Given the description of an element on the screen output the (x, y) to click on. 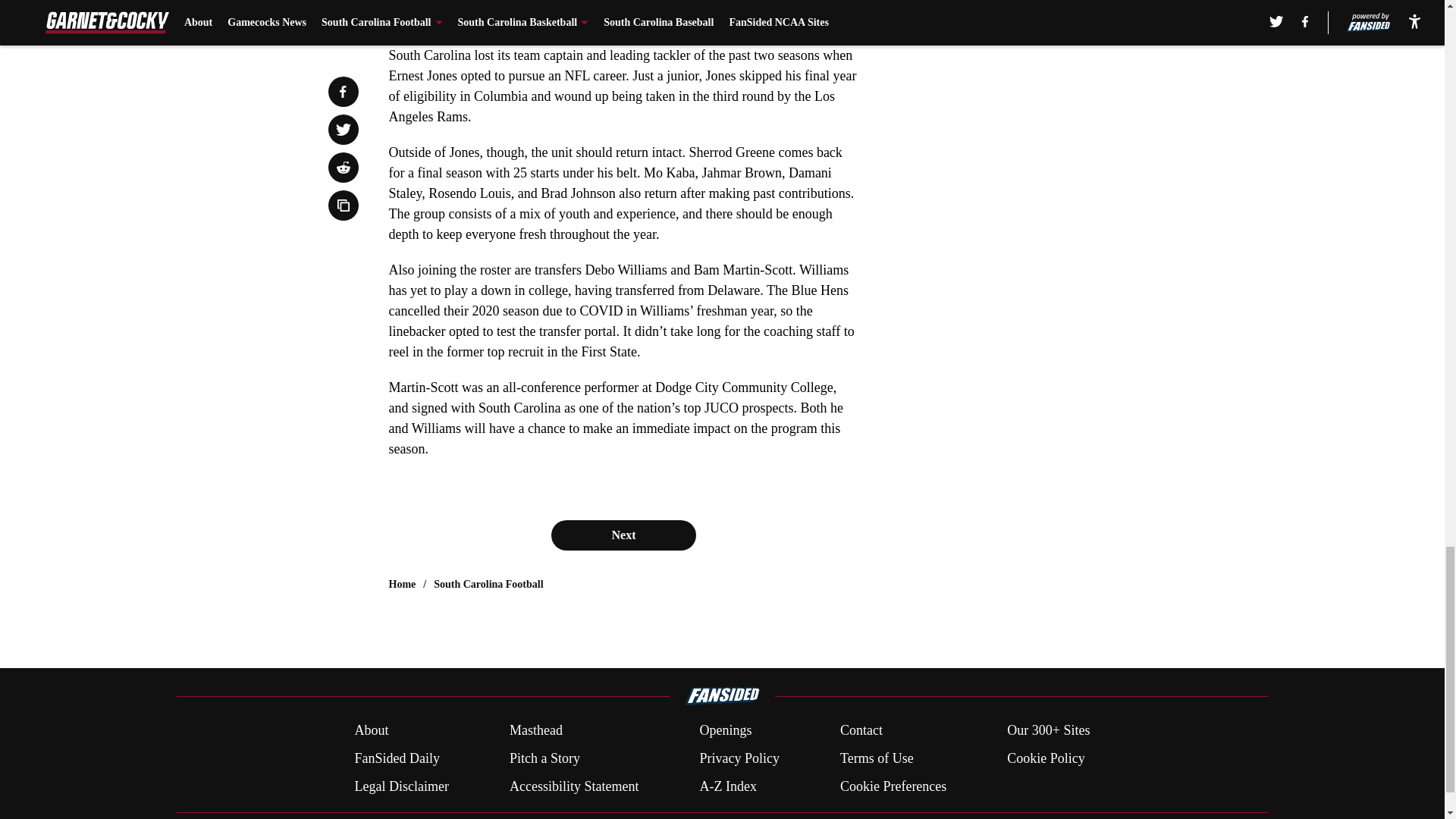
About (370, 730)
Cookie Policy (1045, 758)
Home (401, 584)
Masthead (535, 730)
South Carolina Football (488, 584)
Pitch a Story (544, 758)
Terms of Use (877, 758)
Legal Disclaimer (400, 786)
Privacy Policy (738, 758)
FanSided Daily (396, 758)
Openings (724, 730)
Contact (861, 730)
Next (622, 535)
